Given the description of an element on the screen output the (x, y) to click on. 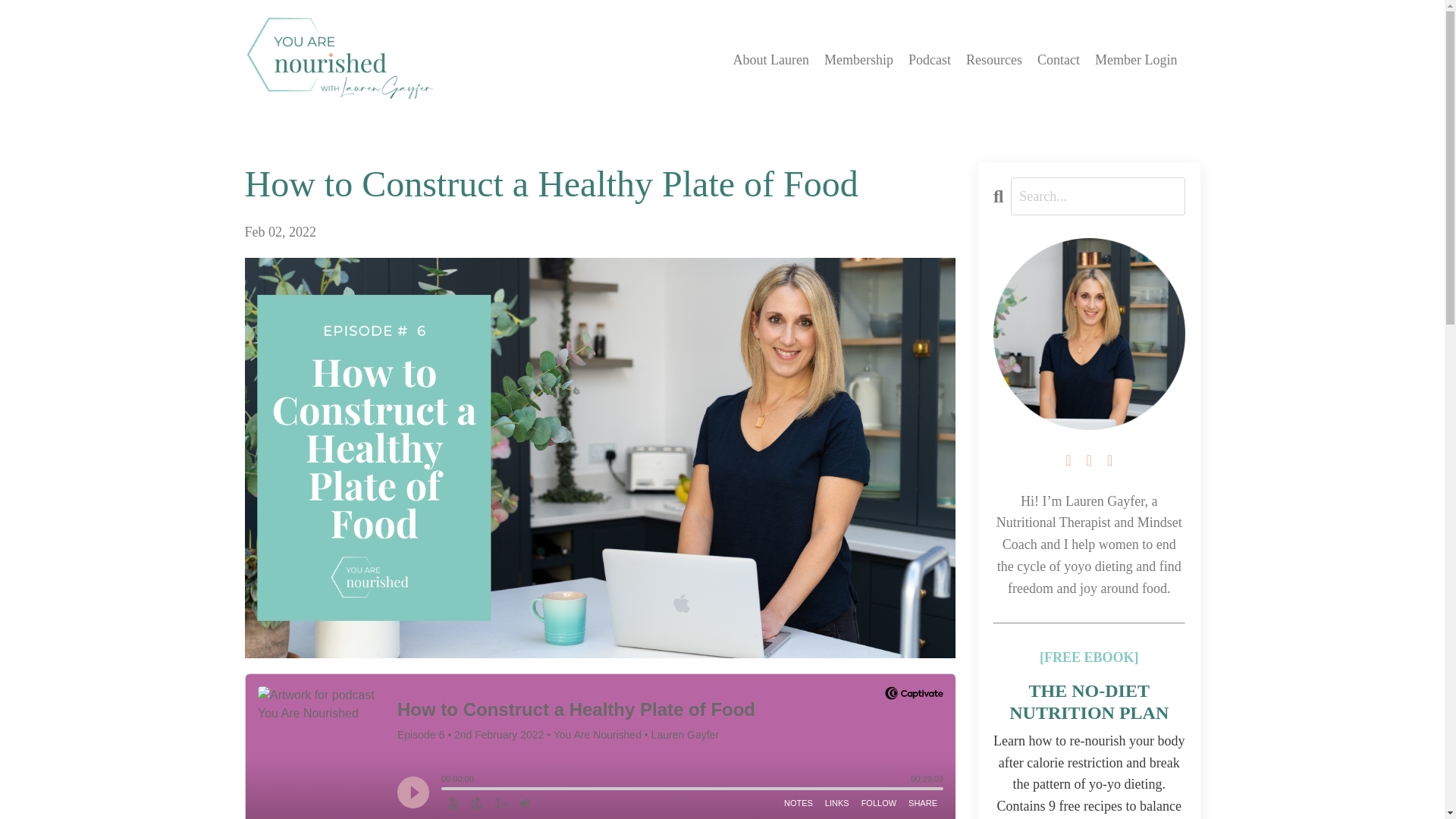
About Lauren (771, 60)
Resources (994, 60)
Member Login (1135, 60)
Contact (1058, 60)
Podcast (929, 60)
Membership (858, 60)
